Given the description of an element on the screen output the (x, y) to click on. 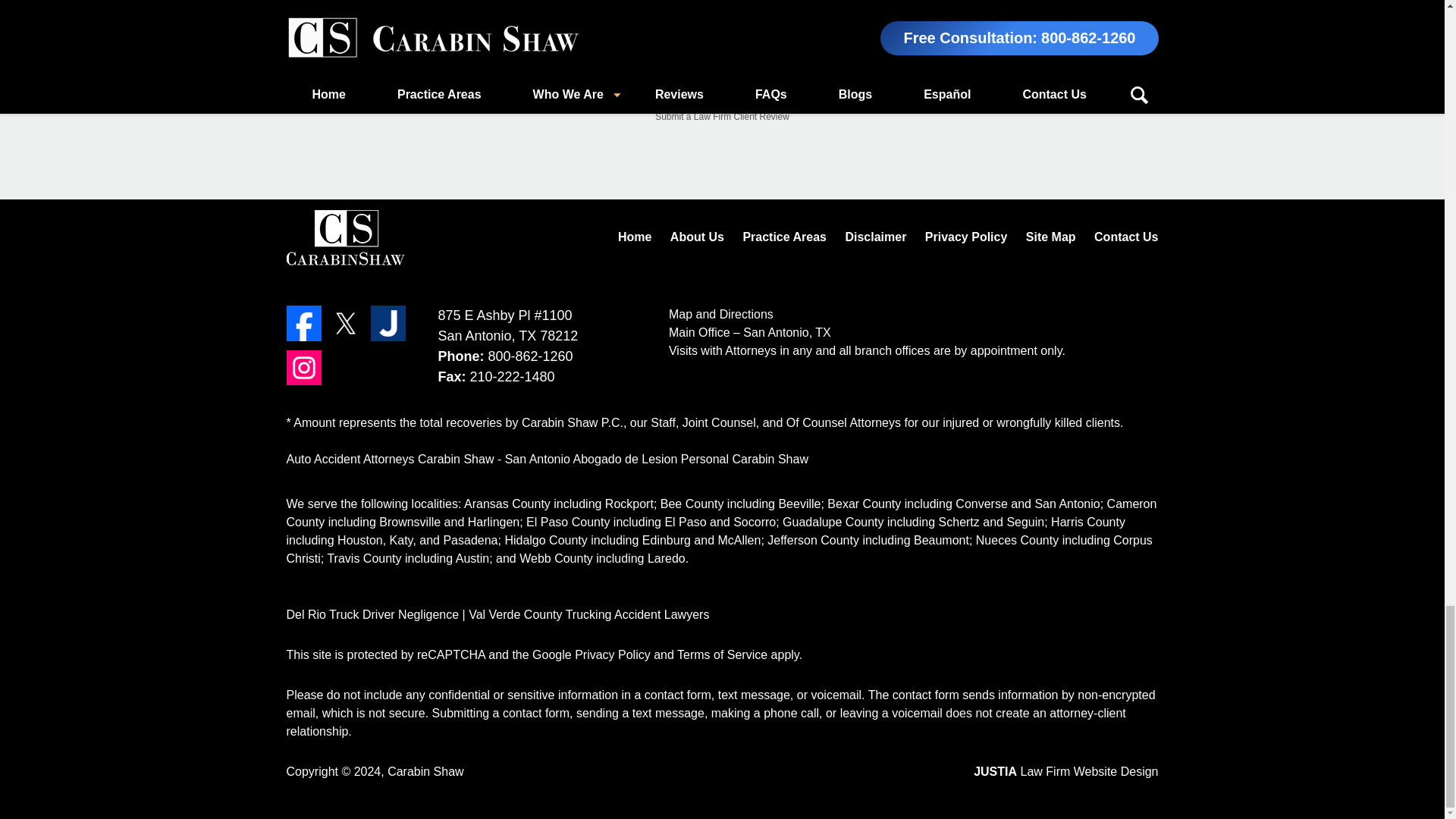
Instagram (303, 367)
Facebook (303, 322)
Justia (388, 322)
Twitter (345, 322)
